Given the description of an element on the screen output the (x, y) to click on. 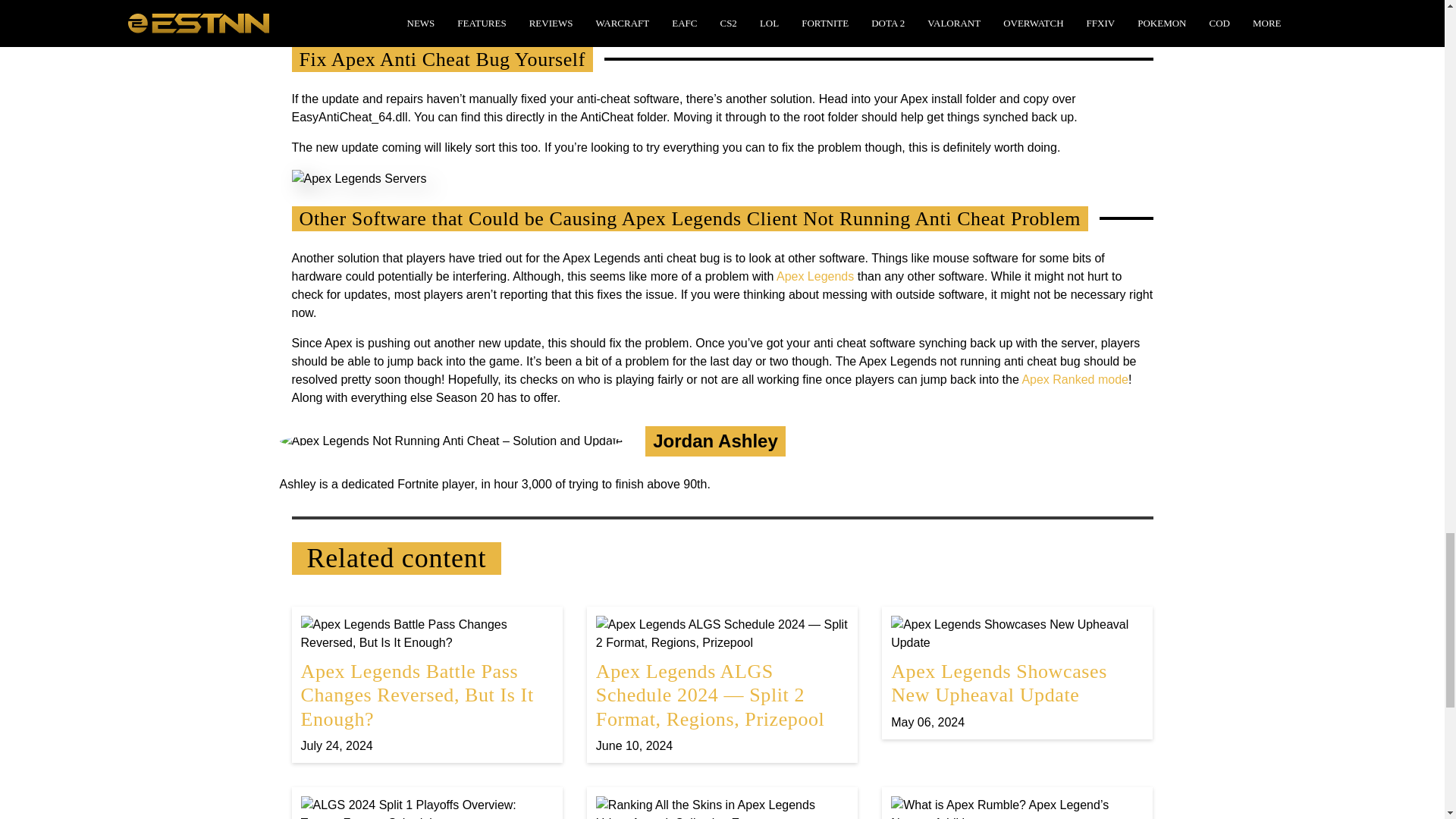
Apex Legends (814, 276)
Apex Legends Battle Pass Changes Reversed, But Is It Enough? (426, 684)
Apex Ranked mode (1075, 379)
Apex Legends Showcases New Upheaval Update (1016, 672)
ALGS 2024 Split 1 Playoffs Overview: Teams, Format, Schedule (426, 807)
Jordan Ashley (714, 440)
